Given the description of an element on the screen output the (x, y) to click on. 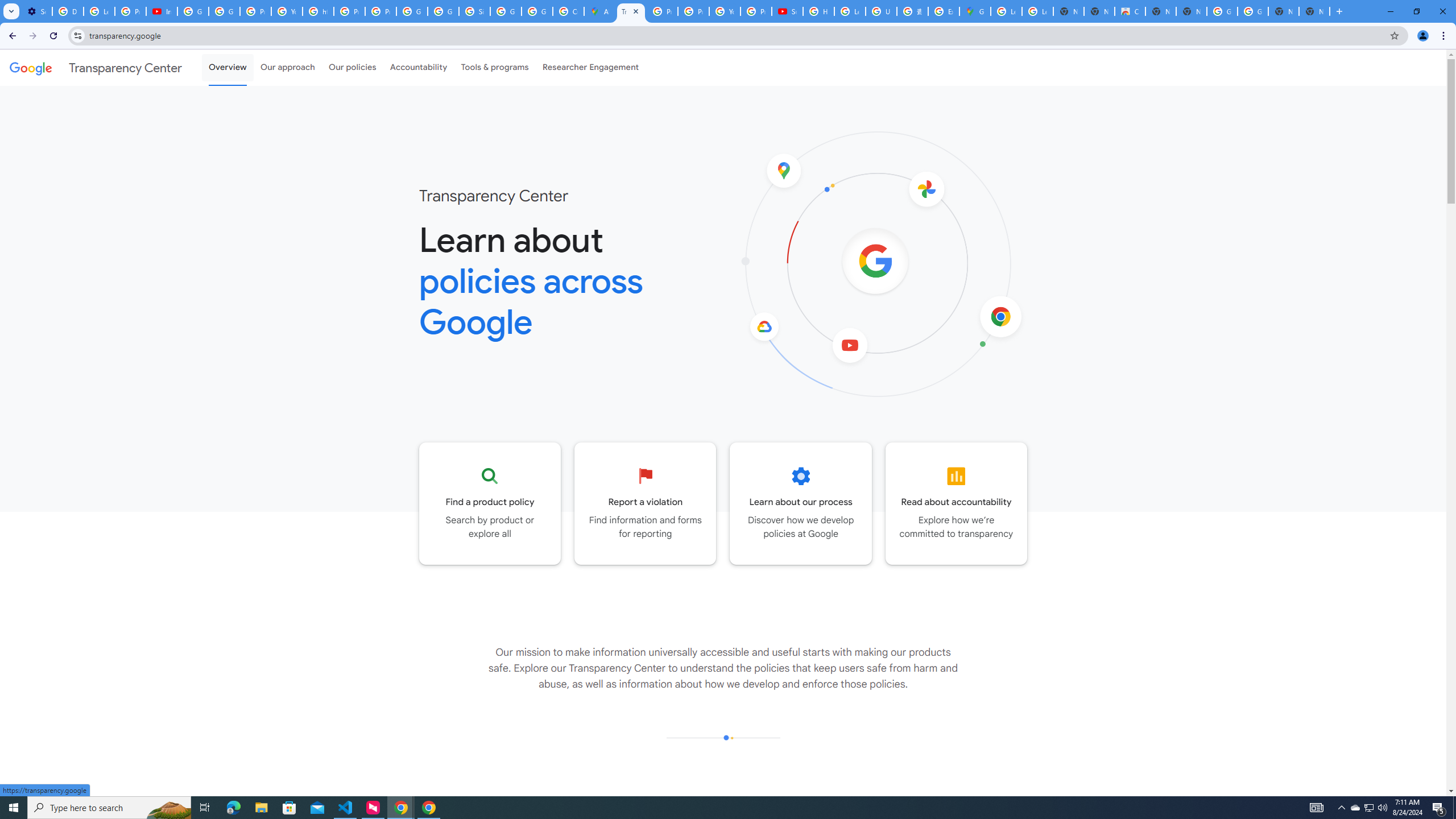
Privacy Help Center - Policies Help (349, 11)
YouTube (286, 11)
Go to the Accountability page (956, 503)
Privacy Help Center - Policies Help (662, 11)
Subscriptions - YouTube (787, 11)
Tools & programs (494, 67)
Create your Google Account (568, 11)
